Given the description of an element on the screen output the (x, y) to click on. 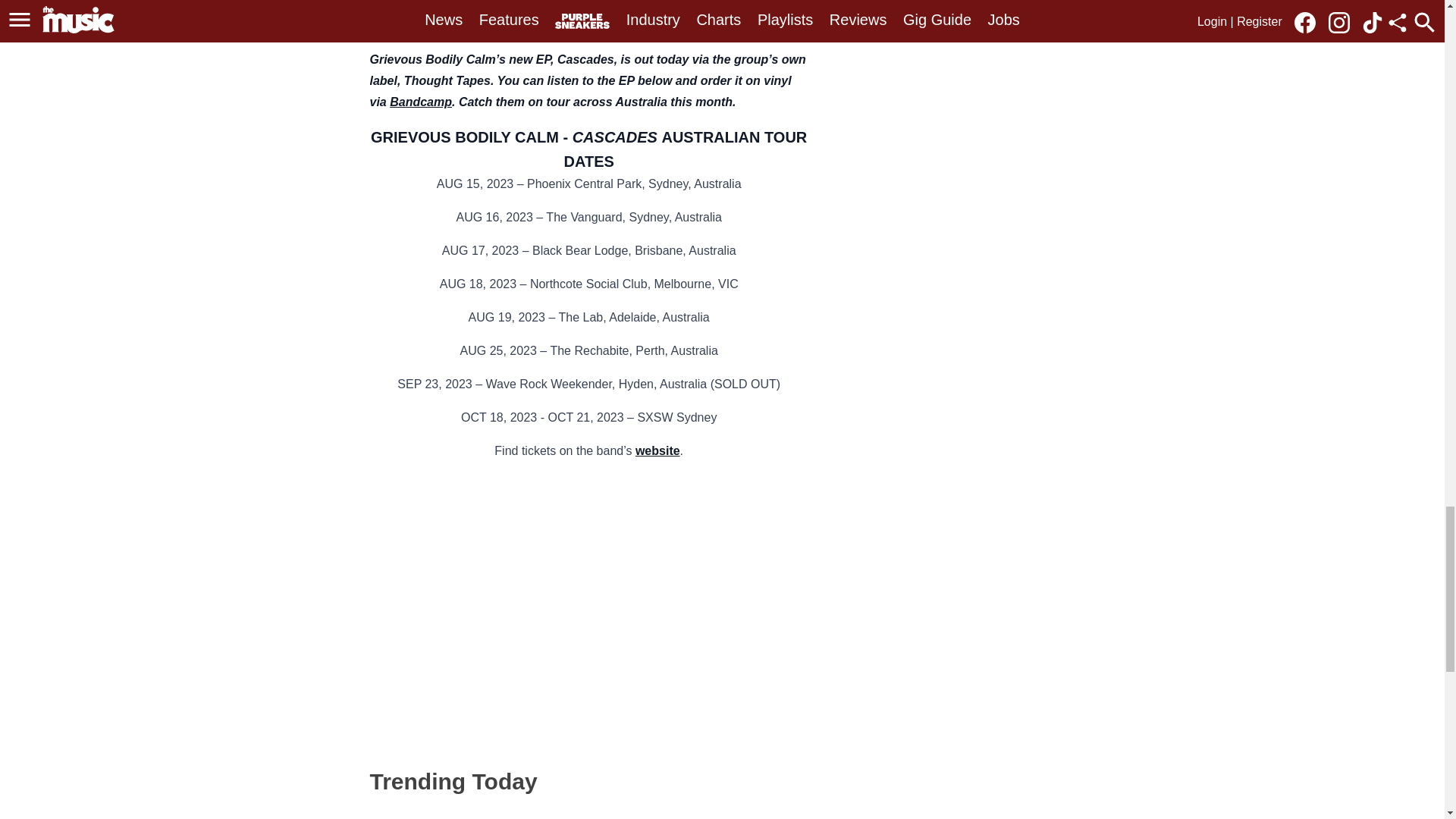
Bandcamp (420, 101)
Spotify Embed: Cascades (588, 607)
